Given the description of an element on the screen output the (x, y) to click on. 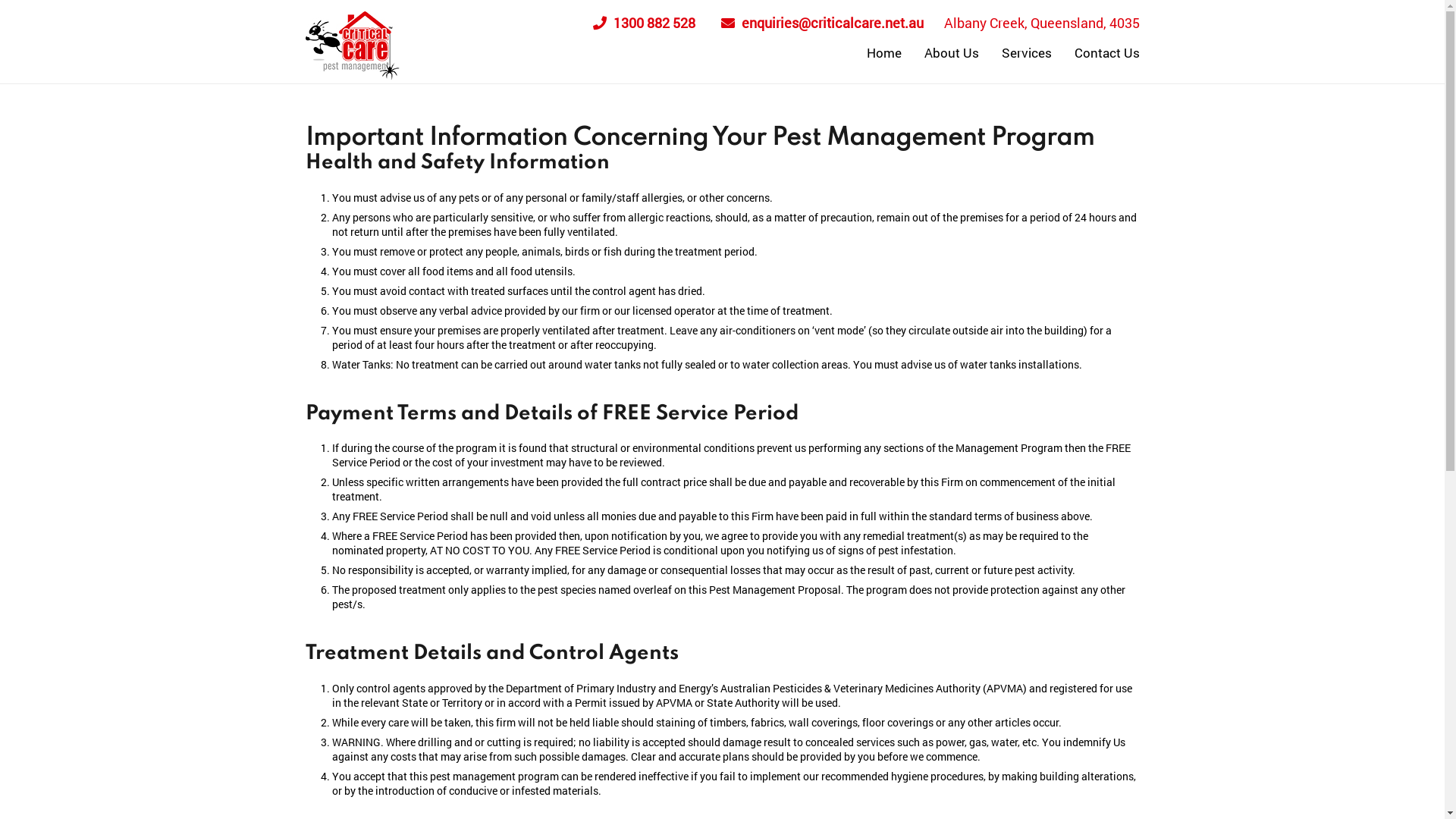
enquiries@criticalcare.net.au Element type: text (821, 23)
Services Element type: text (1026, 52)
About Us Element type: text (951, 52)
1300 882 528 Element type: text (643, 23)
Contact Us Element type: text (1107, 52)
Home Element type: text (884, 52)
